Given the description of an element on the screen output the (x, y) to click on. 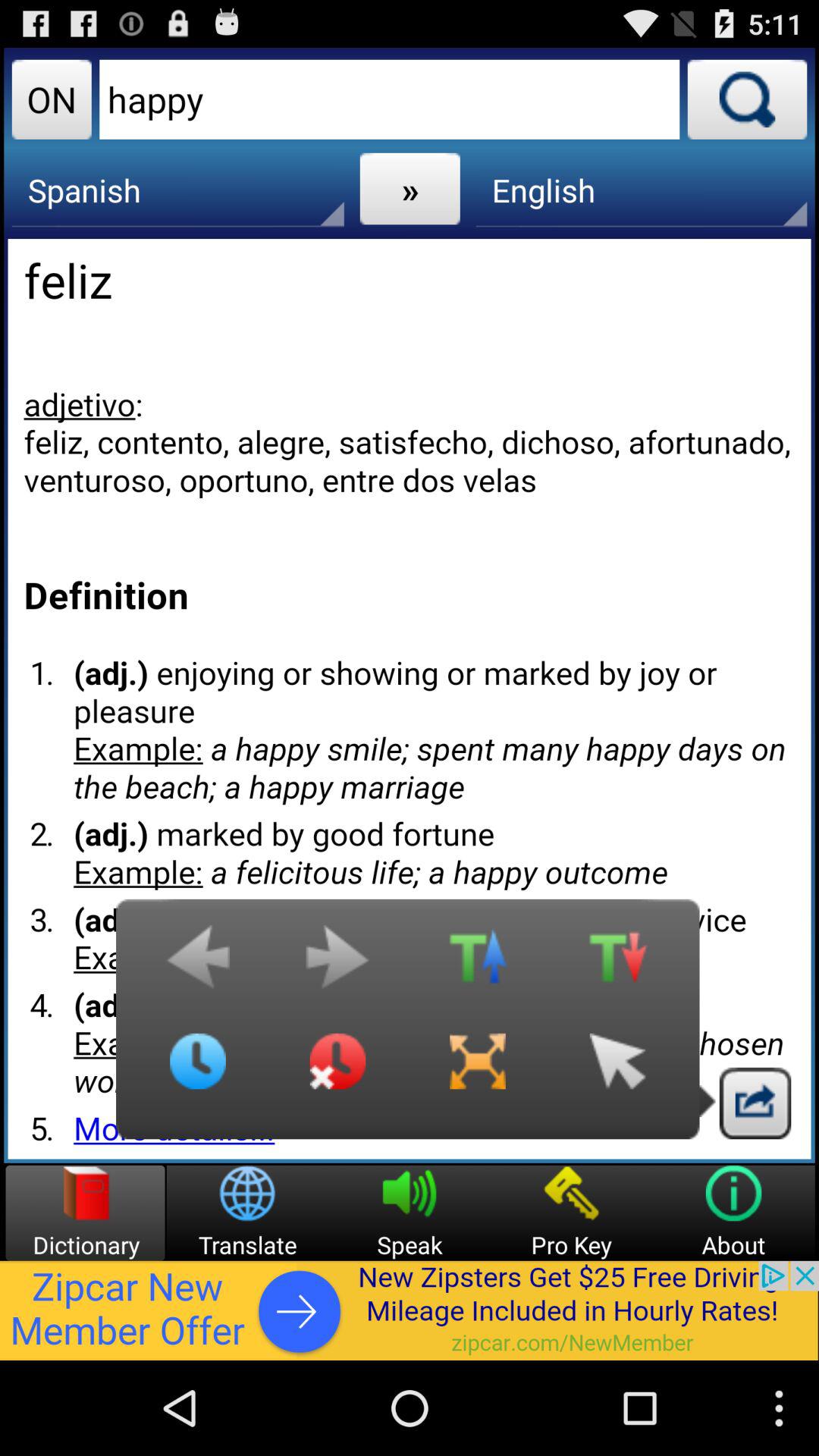
advertisement display (409, 1310)
